Given the description of an element on the screen output the (x, y) to click on. 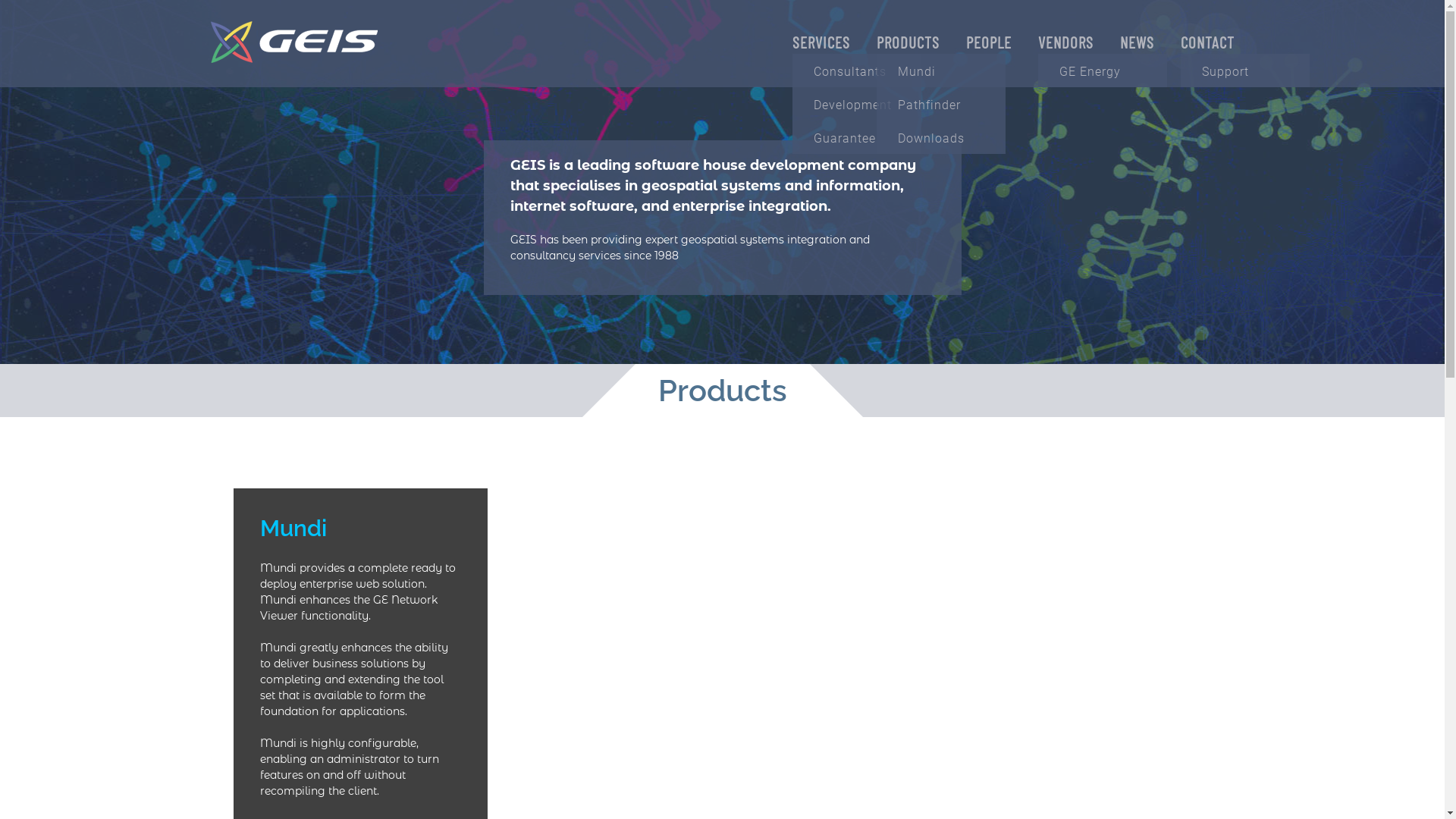
SERVICES Element type: text (820, 41)
GE Energy Element type: text (1101, 70)
PRODUCTS Element type: text (907, 41)
VENDORS Element type: text (1064, 41)
CONTACT Element type: text (1206, 41)
NEWS Element type: text (1136, 41)
Mundi Element type: text (940, 70)
PEOPLE Element type: text (988, 41)
Consultants Element type: text (855, 70)
Pathfinder Element type: text (940, 103)
Guarantee Element type: text (855, 136)
Downloads Element type: text (940, 136)
Development Element type: text (855, 103)
Support Element type: text (1243, 70)
